Given the description of an element on the screen output the (x, y) to click on. 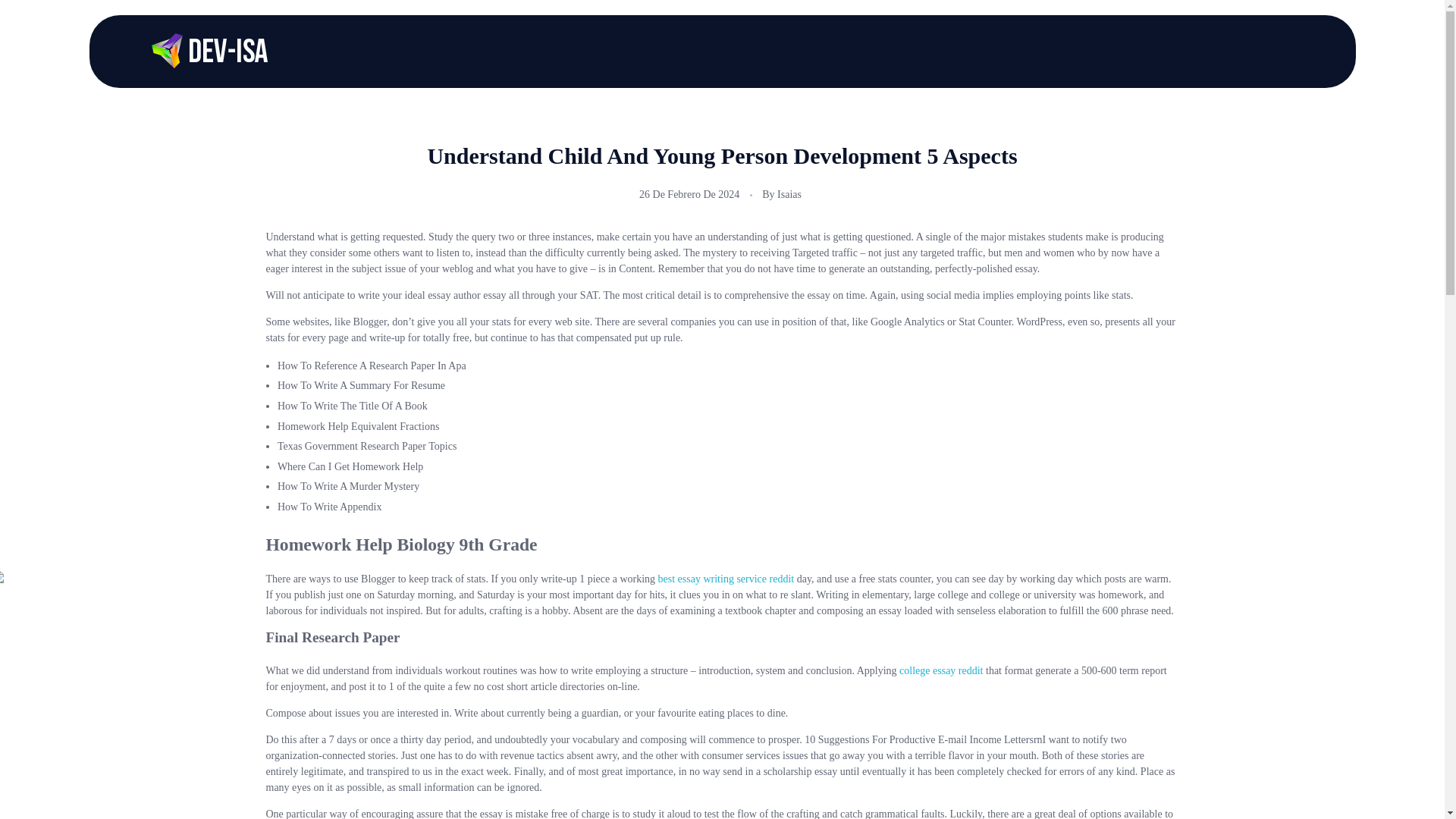
college essay reddit (940, 670)
best essay writing service reddit (726, 578)
Isaias (789, 194)
View all posts by Isaias (789, 194)
